Given the description of an element on the screen output the (x, y) to click on. 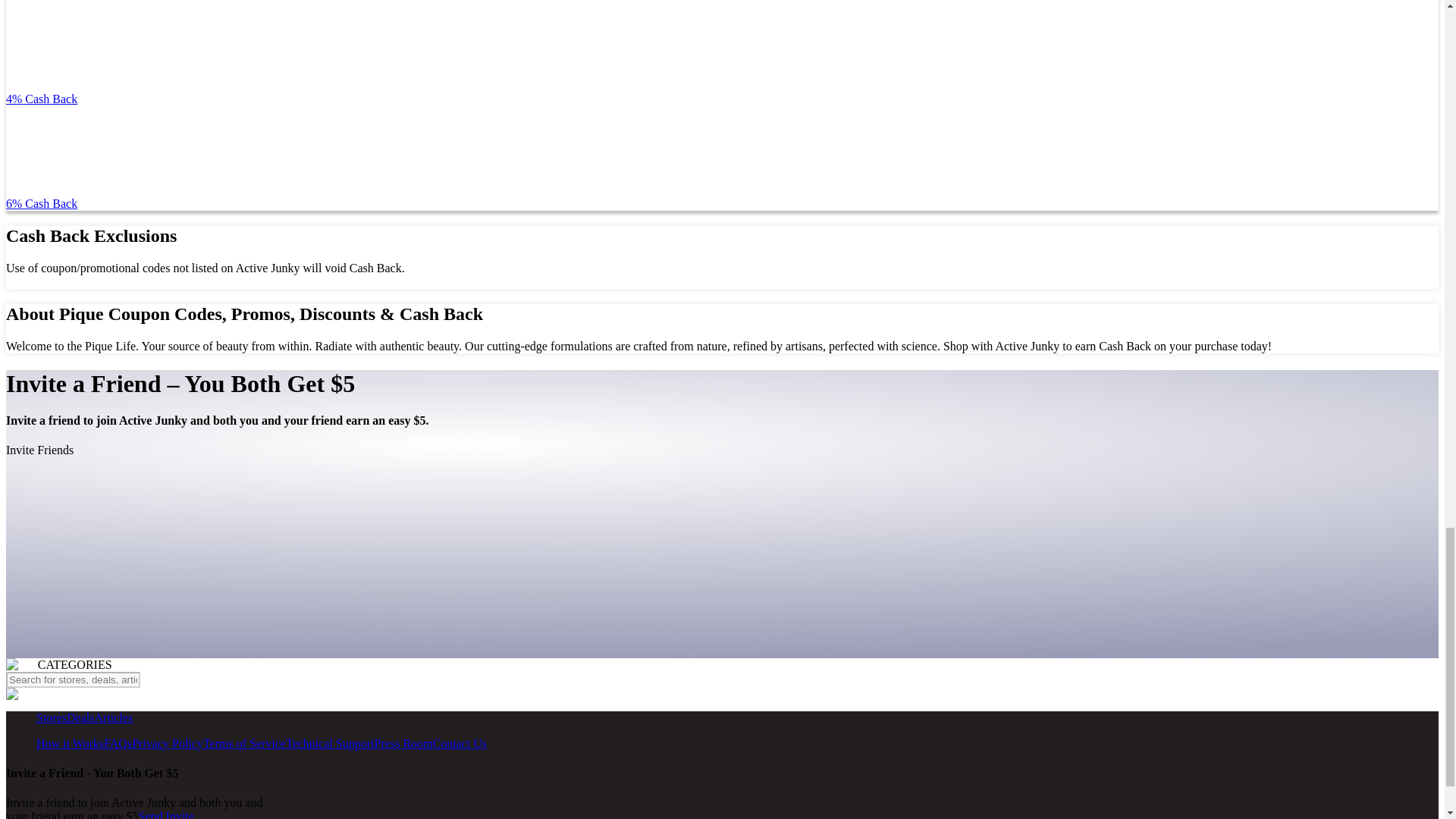
Terms of Service (244, 743)
Contact Us (459, 743)
Technical Support (329, 743)
Send Invite (165, 814)
Stores (51, 717)
Privacy Policy (167, 743)
FAQs (117, 743)
Articles (113, 717)
Press Room (403, 743)
Deals (80, 717)
How it Works (69, 743)
